Given the description of an element on the screen output the (x, y) to click on. 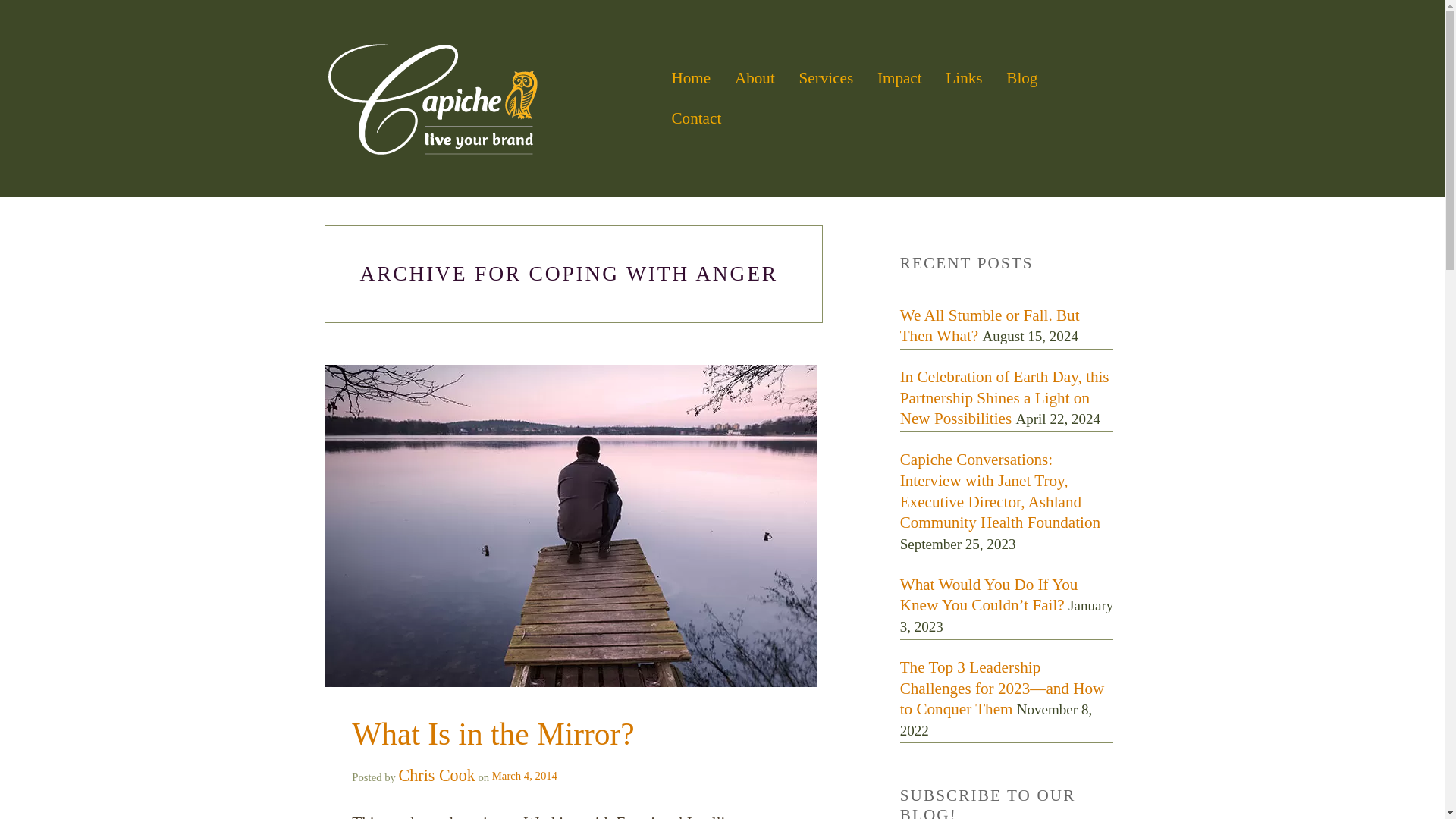
What Is in the Mirror? (492, 733)
 March 4, 2014 (523, 775)
Blog (1021, 78)
We All Stumble or Fall. But Then What? (989, 325)
Impact (899, 78)
Home (690, 78)
Chris Cook (437, 774)
Capiche (491, 98)
Services (825, 78)
